Given the description of an element on the screen output the (x, y) to click on. 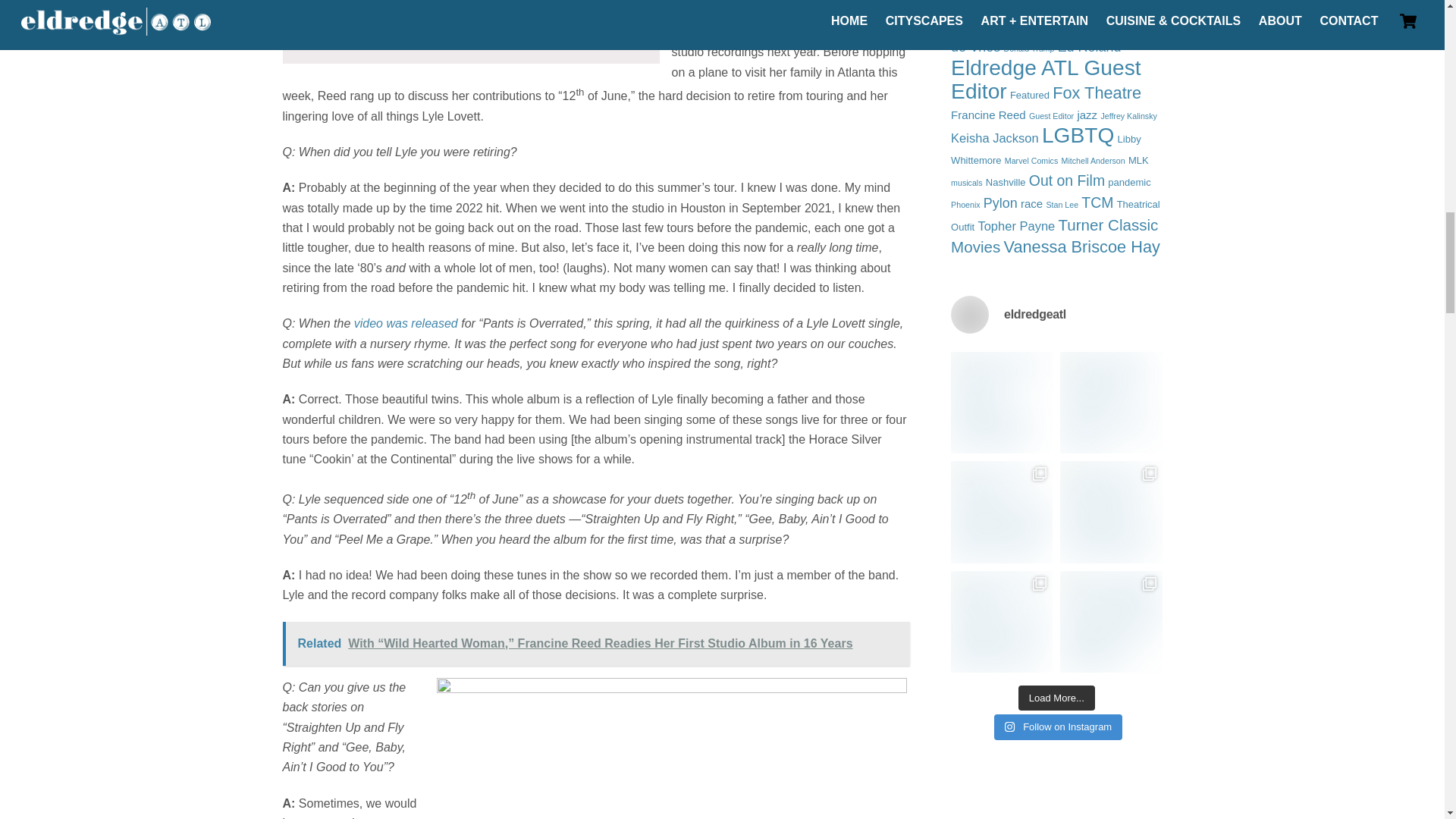
video was released (407, 323)
Reed is signed, (781, 21)
